Given the description of an element on the screen output the (x, y) to click on. 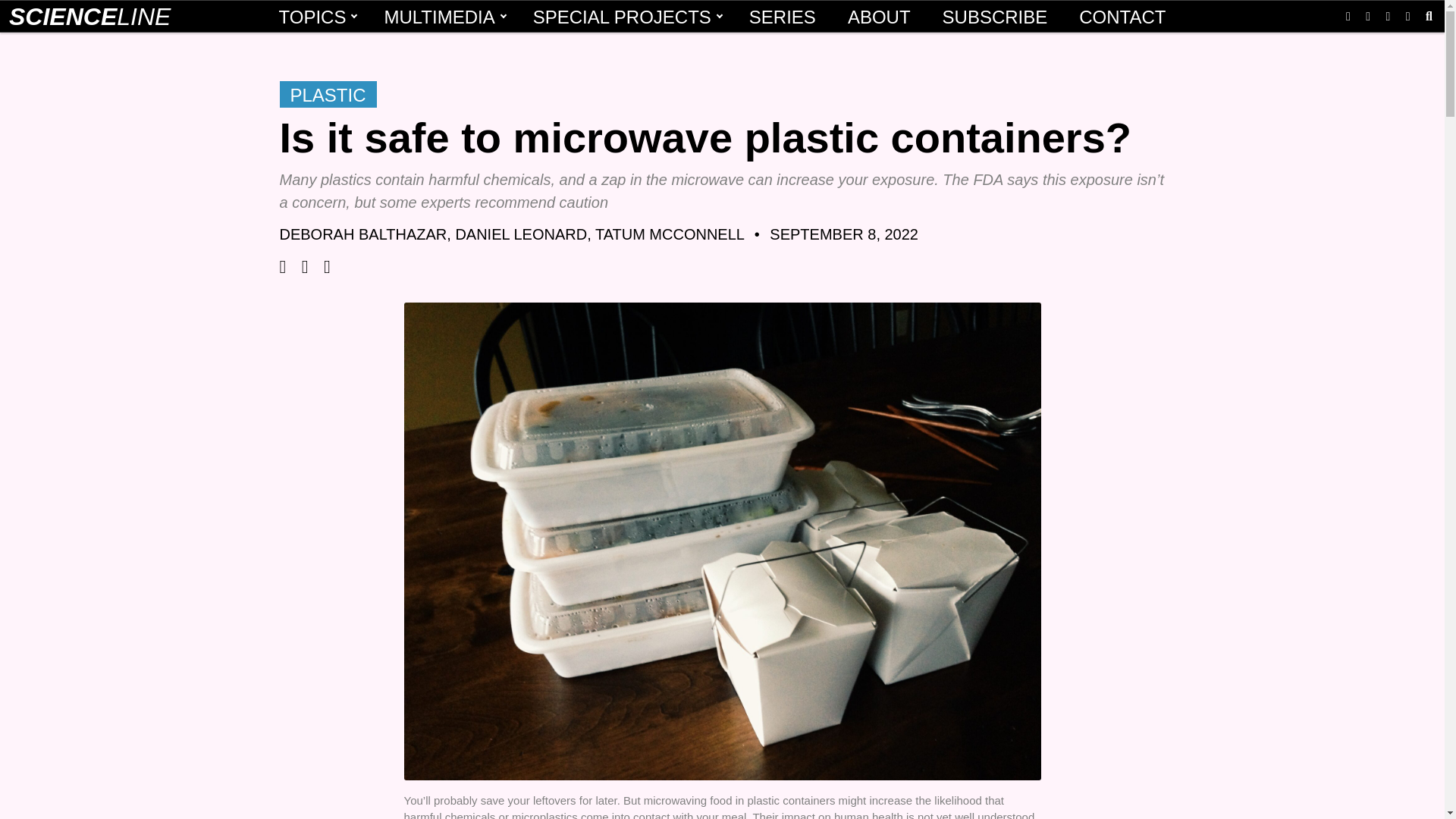
CONTACT (1122, 15)
ABOUT (879, 15)
PLASTIC (327, 94)
Posts by Deborah Balthazar, Daniel Leonard, Tatum McConnell (511, 234)
MULTIMEDIA (441, 15)
SUBSCRIBE (994, 15)
SERIES (782, 15)
SPECIAL PROJECTS (625, 15)
TOPICS (315, 15)
DEBORAH BALTHAZAR, DANIEL LEONARD, TATUM MCCONNELL (511, 234)
SCIENCELINE (89, 16)
